Given the description of an element on the screen output the (x, y) to click on. 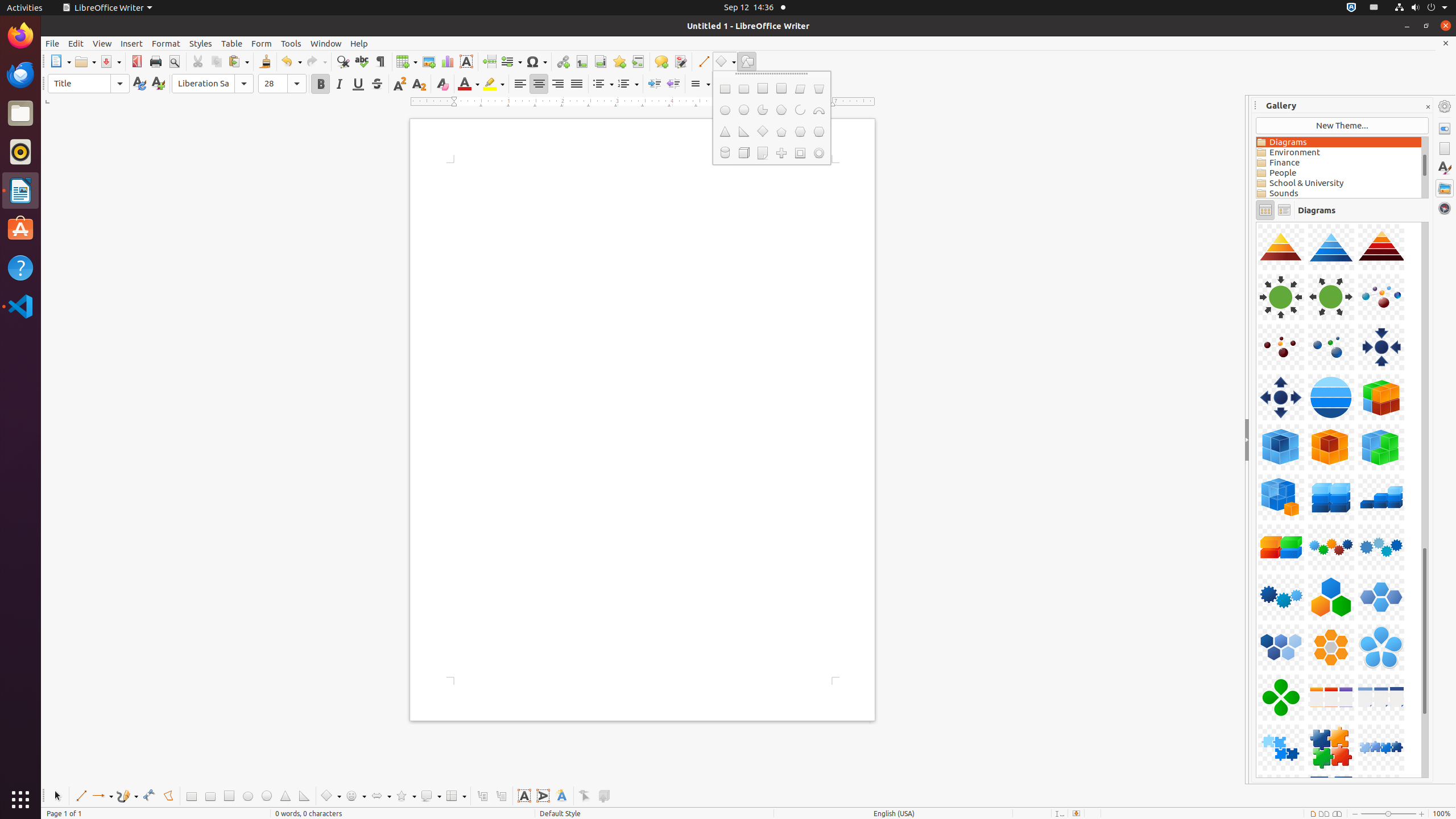
Square Element type: toggle-button (762, 88)
Horizontal Ruler Element type: ruler (642, 101)
Callouts Element type: push-button (481, 795)
Component-PuzzlePiece04-Red Element type: list-item (1256, 222)
Component-Circle03-Transparent-Green Element type: list-item (1256, 222)
